Given the description of an element on the screen output the (x, y) to click on. 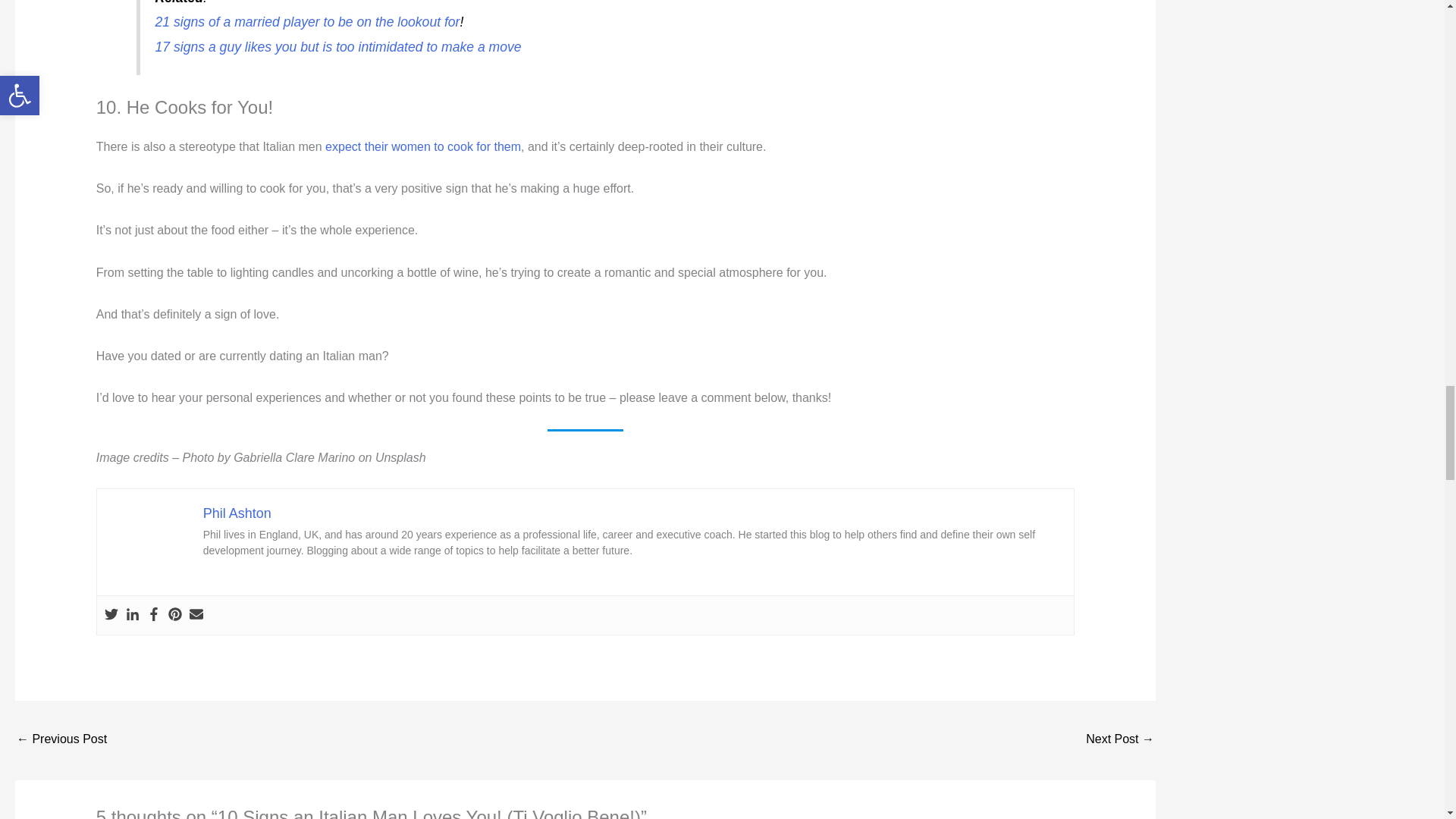
21 signs of a married player to be on the lookout for (307, 21)
Phil Ashton (236, 513)
expect their women to cook for them (422, 146)
